Given the description of an element on the screen output the (x, y) to click on. 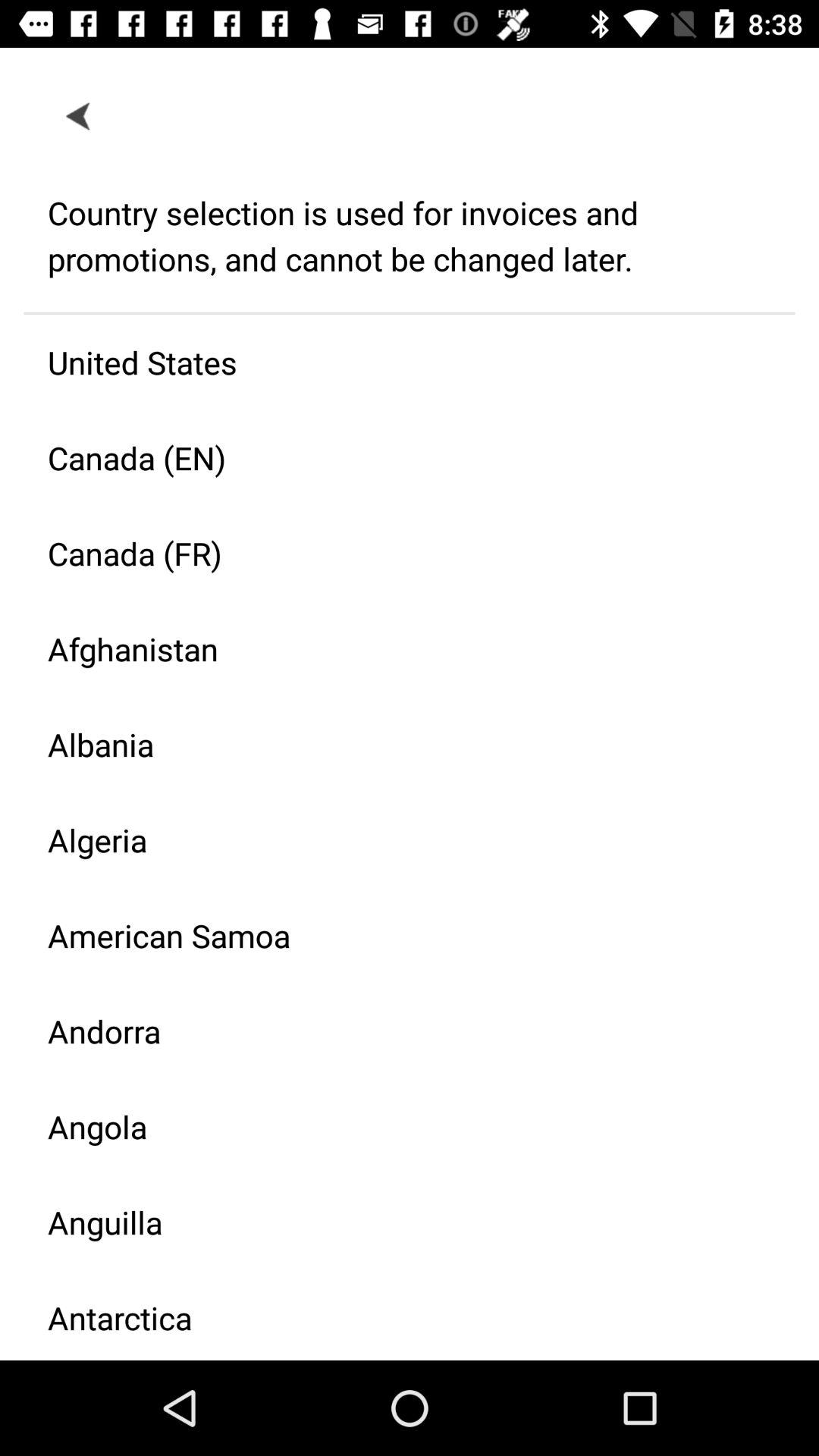
flip to the anguilla icon (397, 1221)
